Given the description of an element on the screen output the (x, y) to click on. 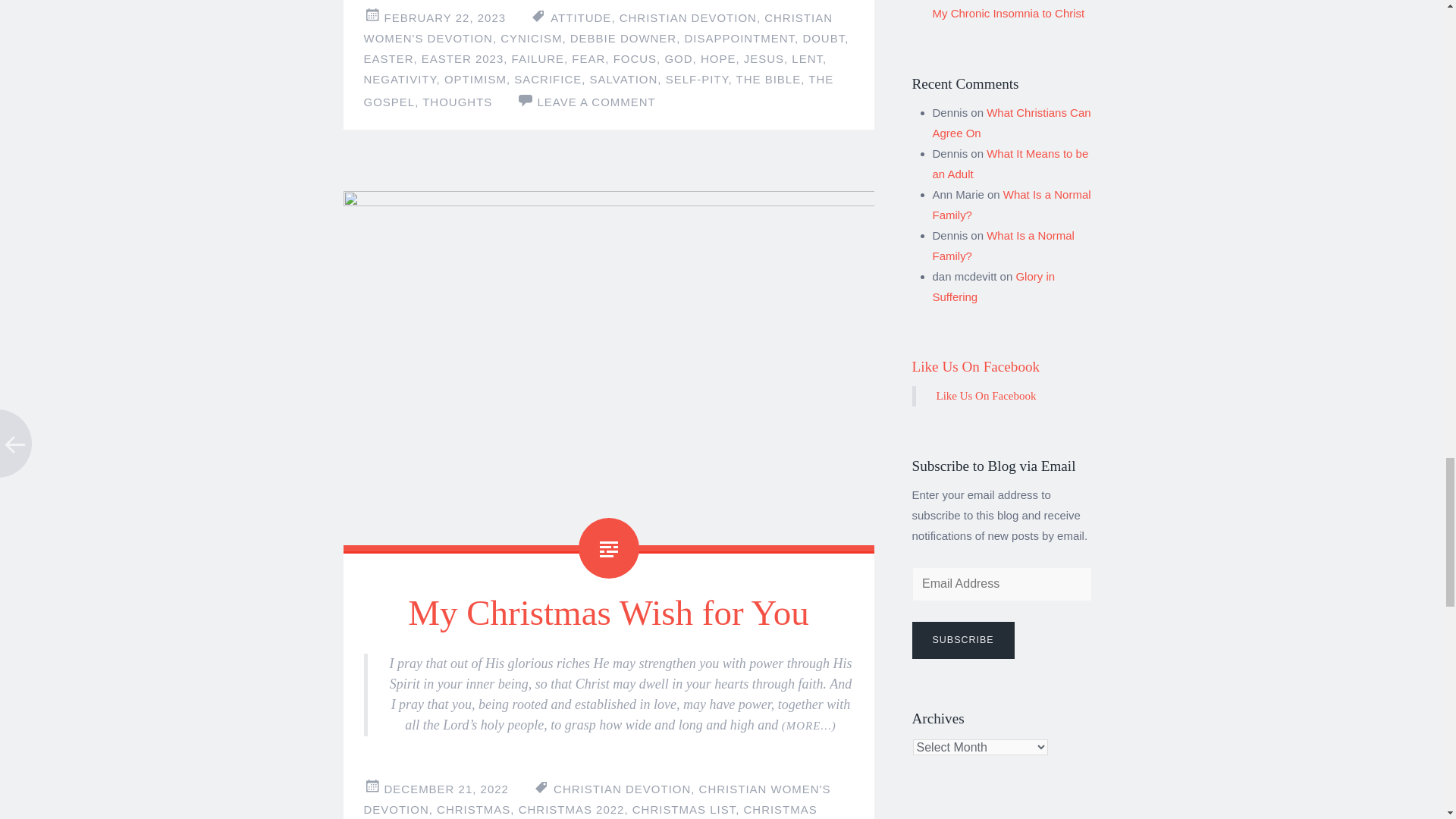
1:17 pm (446, 788)
Subscribe (962, 640)
4:35 pm (444, 17)
